Given the description of an element on the screen output the (x, y) to click on. 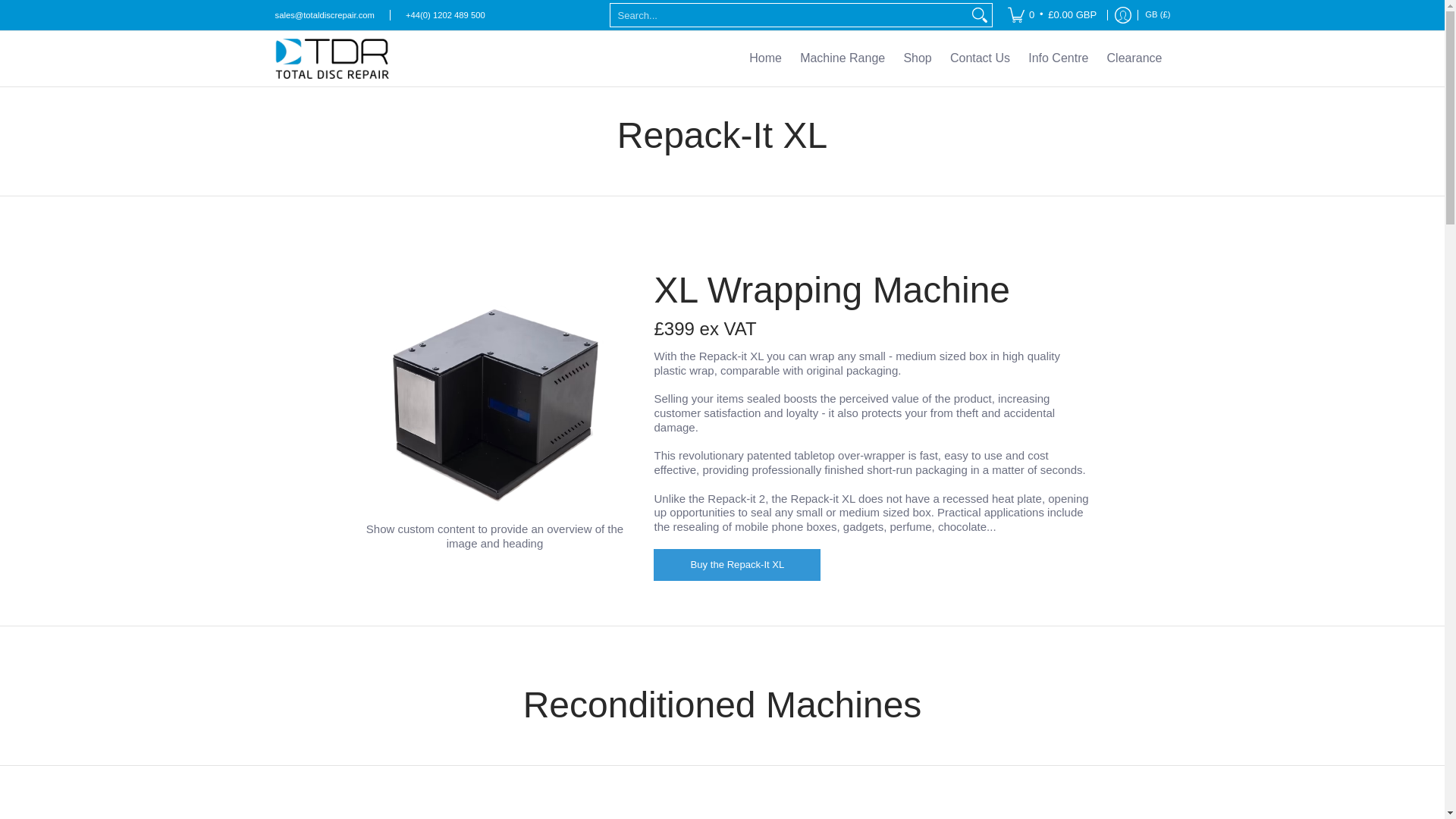
Log in (1123, 15)
BG (995, 54)
Cart (1051, 15)
Machine Range (842, 58)
BN (987, 22)
Total Disc Repair (335, 58)
